Given the description of an element on the screen output the (x, y) to click on. 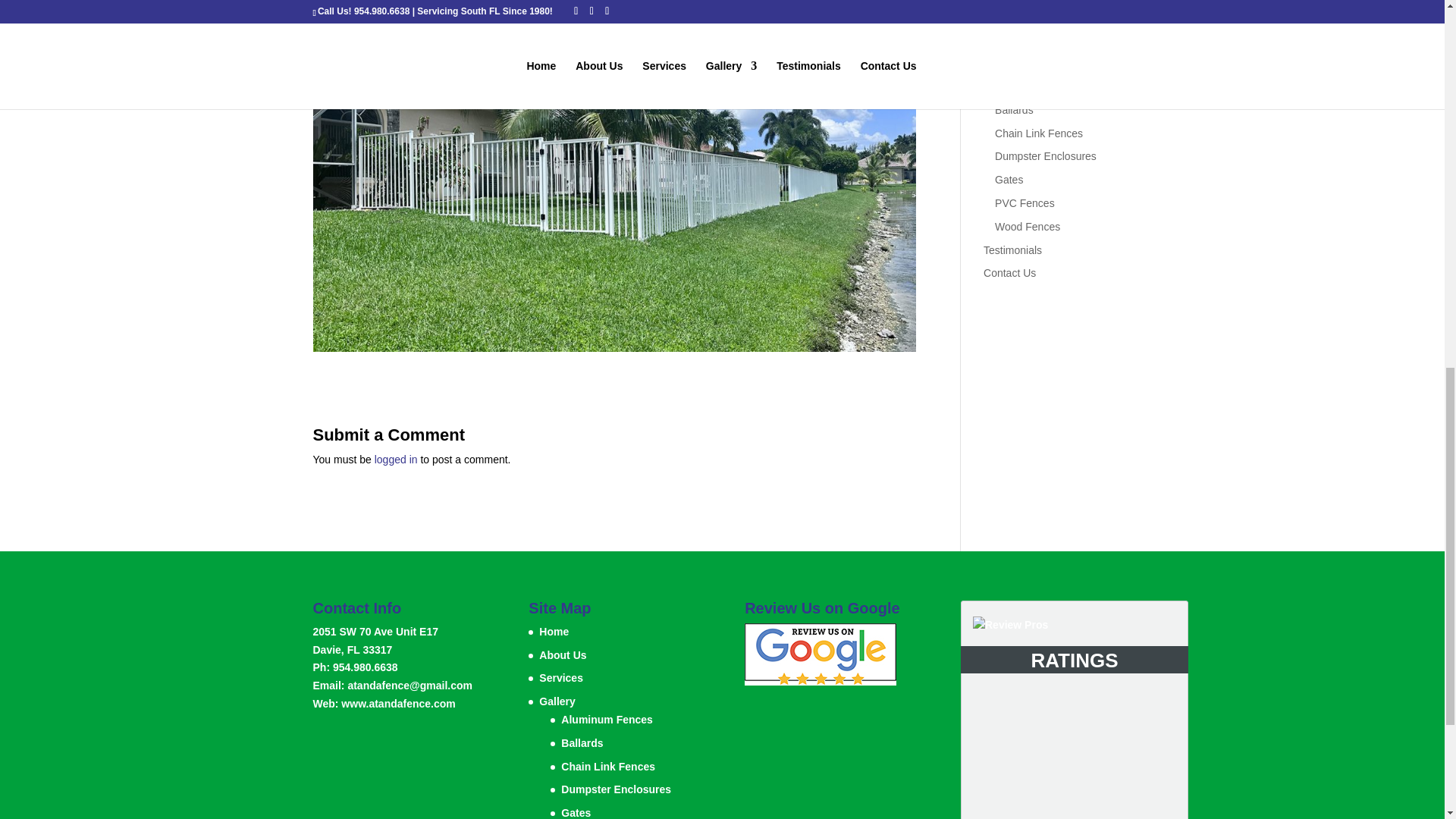
Services (1004, 45)
Ballards (1013, 110)
logged in (395, 459)
About Us (1005, 21)
Aluminum Fences (1037, 86)
Home (997, 2)
Gallery (1000, 68)
